Given the description of an element on the screen output the (x, y) to click on. 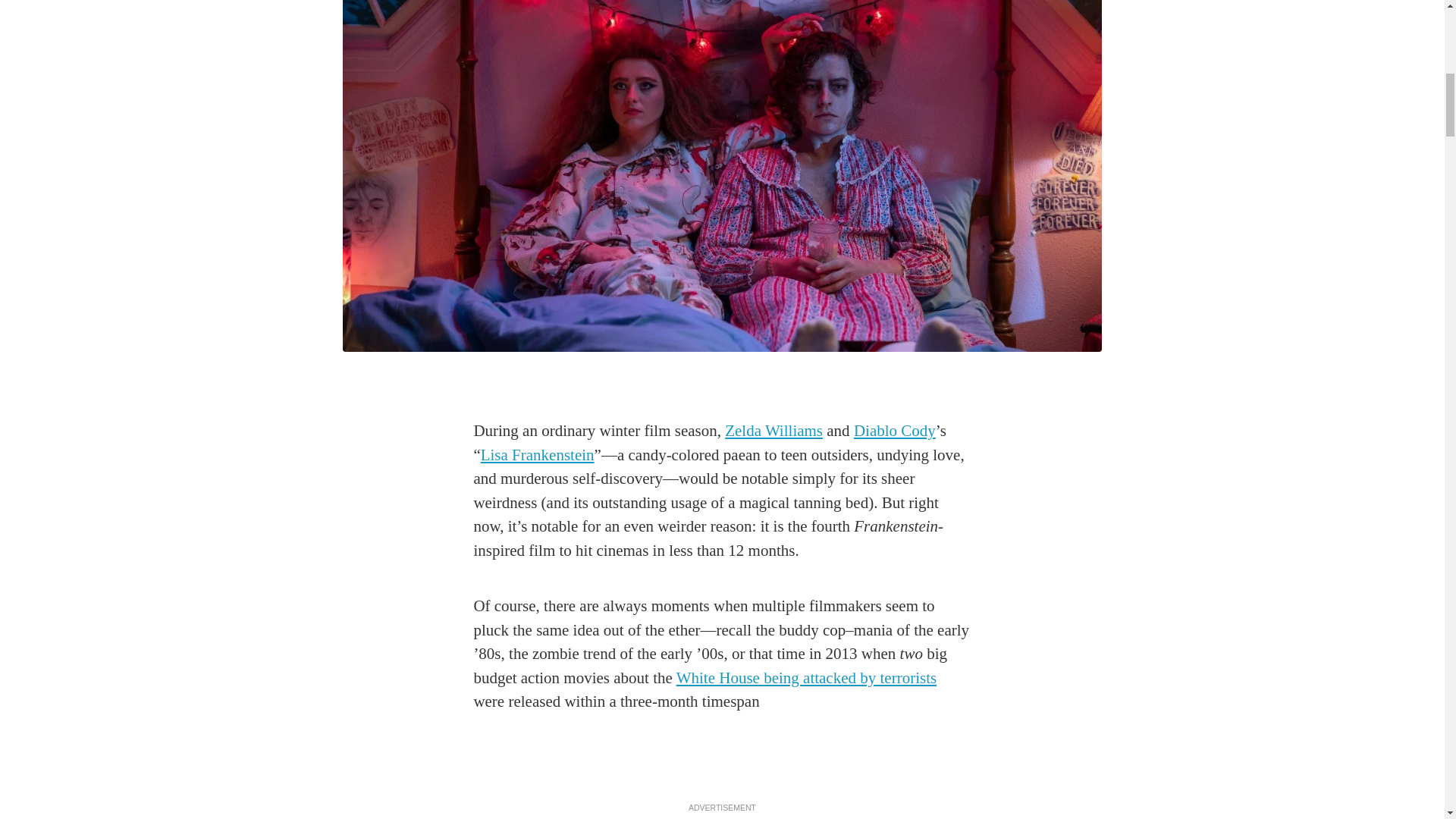
Zelda Williams (773, 430)
White House being attacked by terrorists (806, 678)
Diablo Cody (894, 430)
Lisa Frankenstein (537, 454)
